Given the description of an element on the screen output the (x, y) to click on. 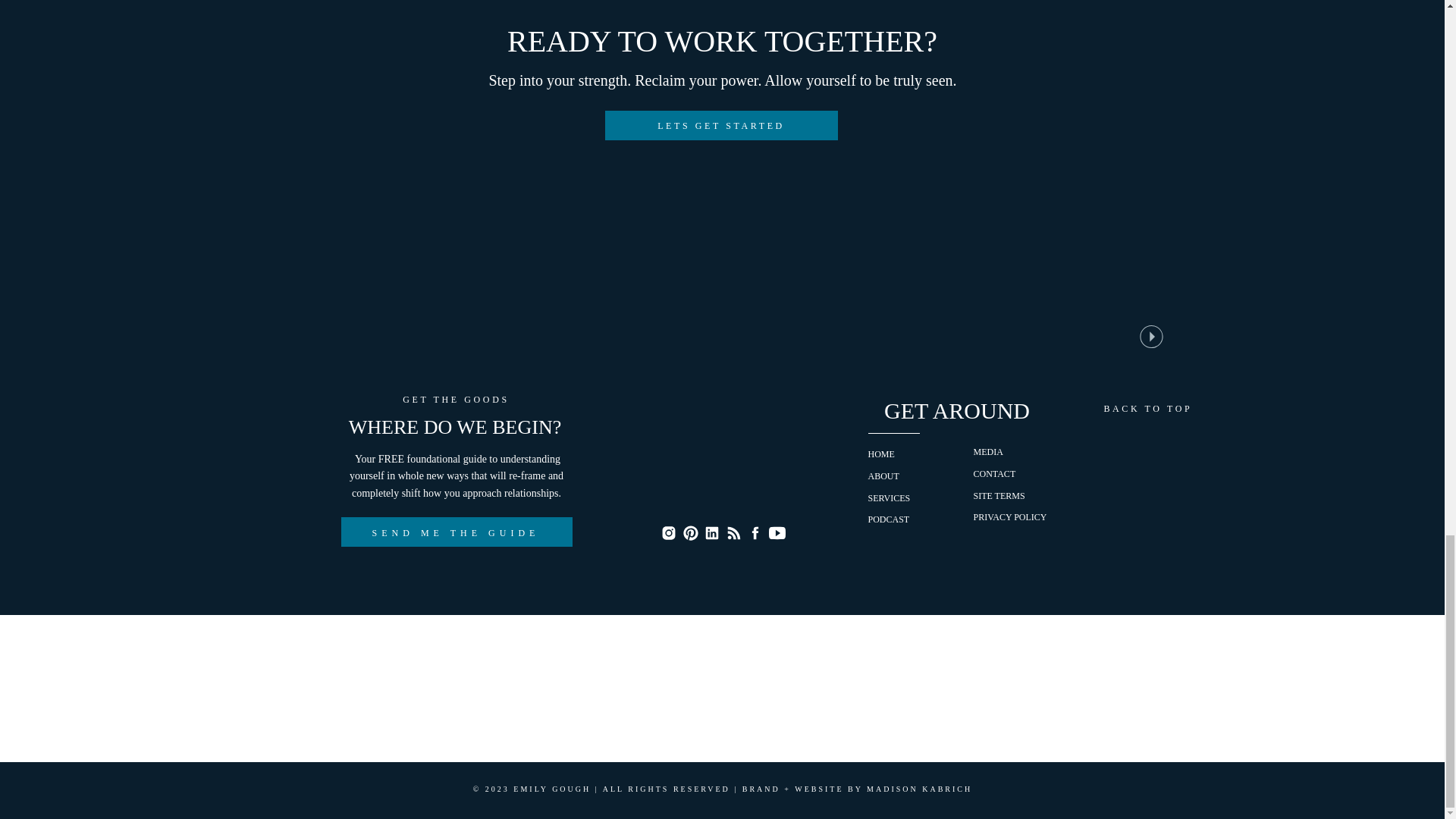
MEDIA (988, 451)
CONTACT (995, 473)
PODCAST (887, 519)
SEND ME THE GUIDE (455, 532)
LETS GET STARTED (720, 124)
SITE TERMS (999, 495)
PRIVACY POLICY (1010, 516)
ABOUT (882, 475)
Emily Gough Coaching (429, 73)
SERVICES (888, 498)
